Given the description of an element on the screen output the (x, y) to click on. 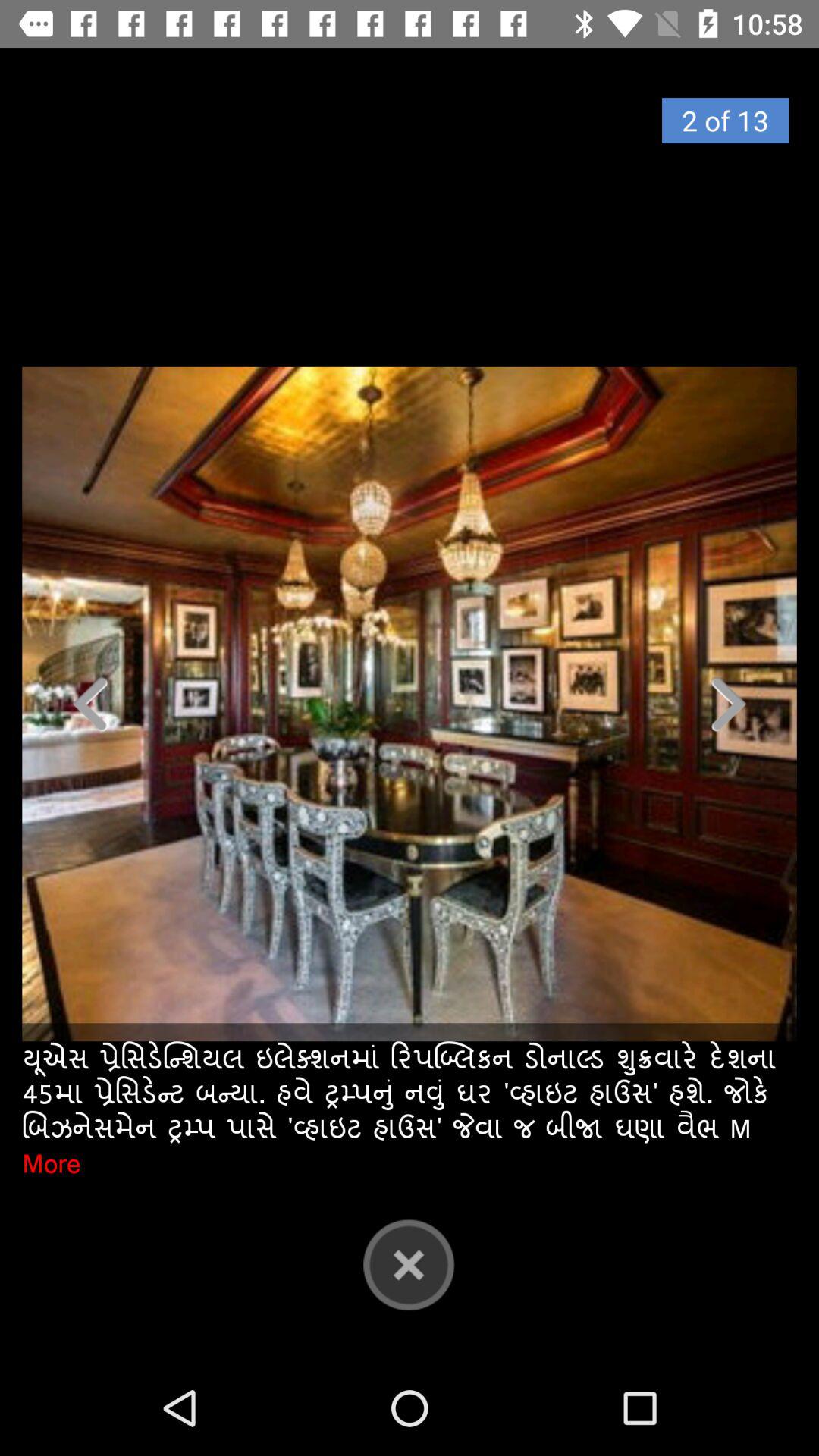
go back (409, 1264)
